Given the description of an element on the screen output the (x, y) to click on. 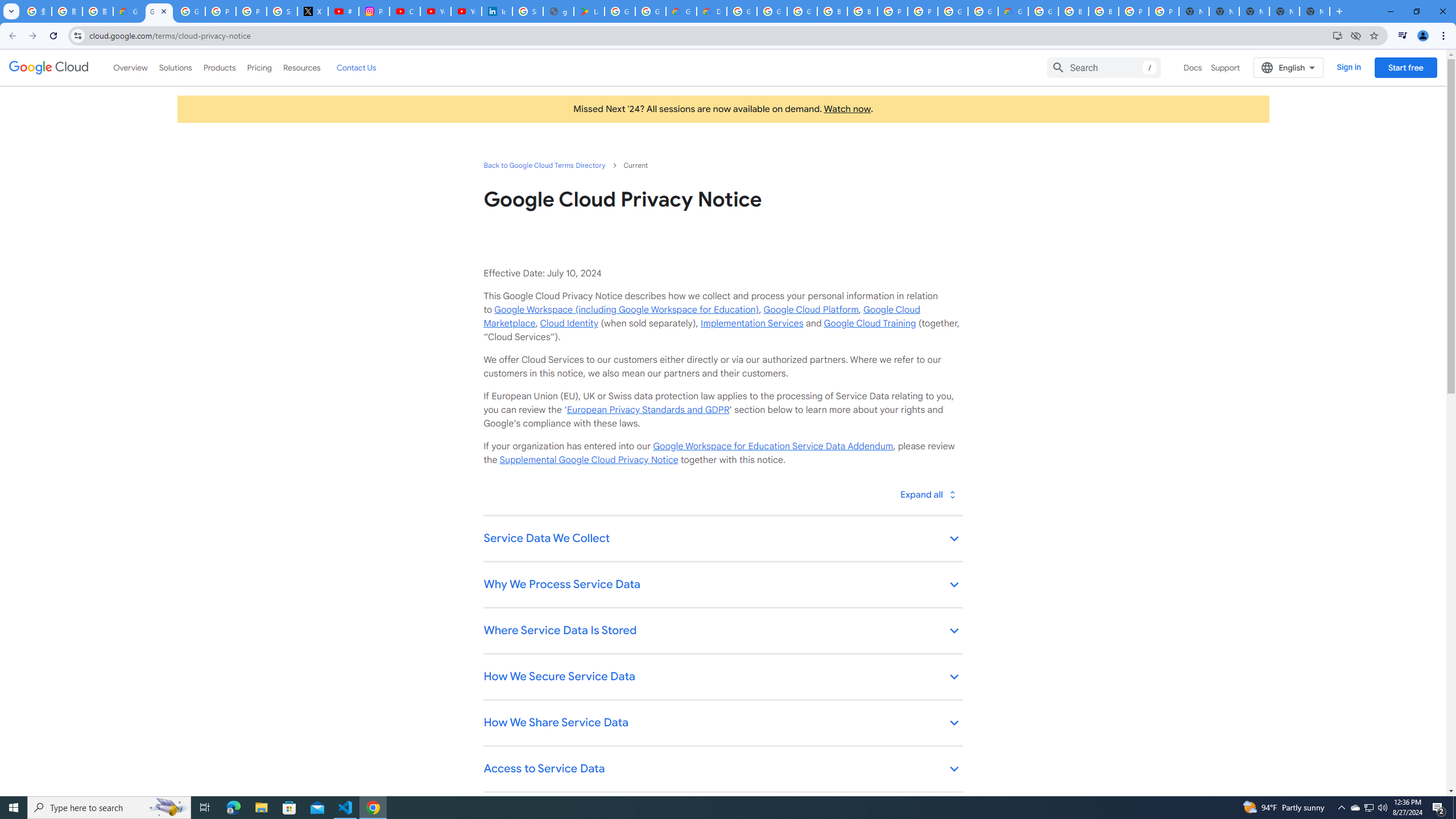
Google Cloud Privacy Notice (127, 11)
Pricing (259, 67)
Why We Process Service Data keyboard_arrow_down (722, 585)
Toggle all (927, 493)
Privacy Help Center - Policies Help (251, 11)
Google Workspace for Education Service Data Addendum (772, 446)
How We Secure Service Data keyboard_arrow_down (722, 677)
Products (218, 67)
Privacy Help Center - Policies Help (220, 11)
